Given the description of an element on the screen output the (x, y) to click on. 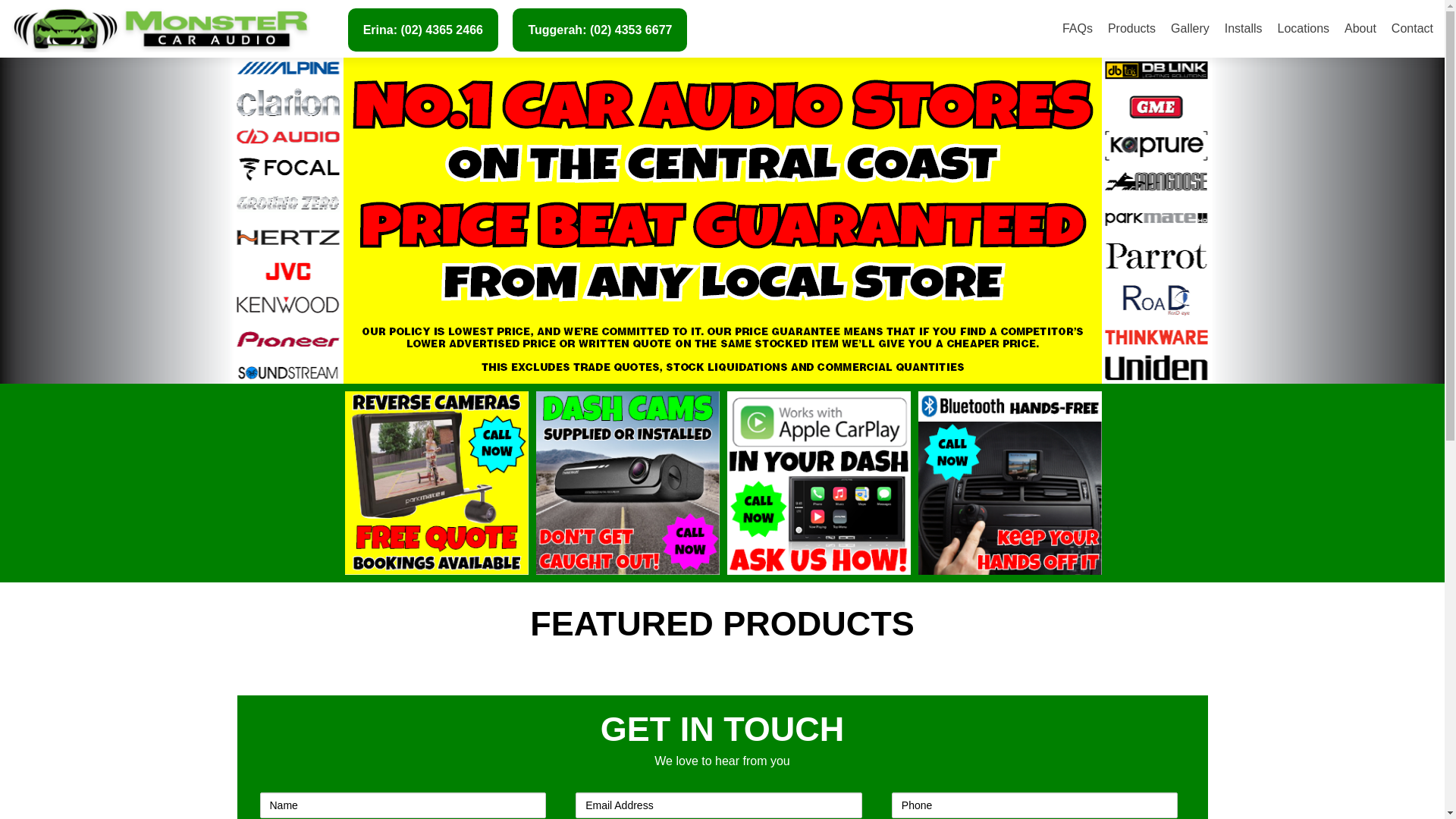
Locations Element type: text (1303, 28)
FAQs Element type: text (1077, 28)
Erina: (02) 4365 2466 Element type: text (423, 29)
Tuggerah: (02) 4353 6677 Element type: text (599, 29)
Contact Element type: text (1412, 28)
Gallery Element type: text (1189, 28)
About Element type: text (1360, 28)
Products Element type: text (1131, 28)
Installs Element type: text (1243, 28)
